Given the description of an element on the screen output the (x, y) to click on. 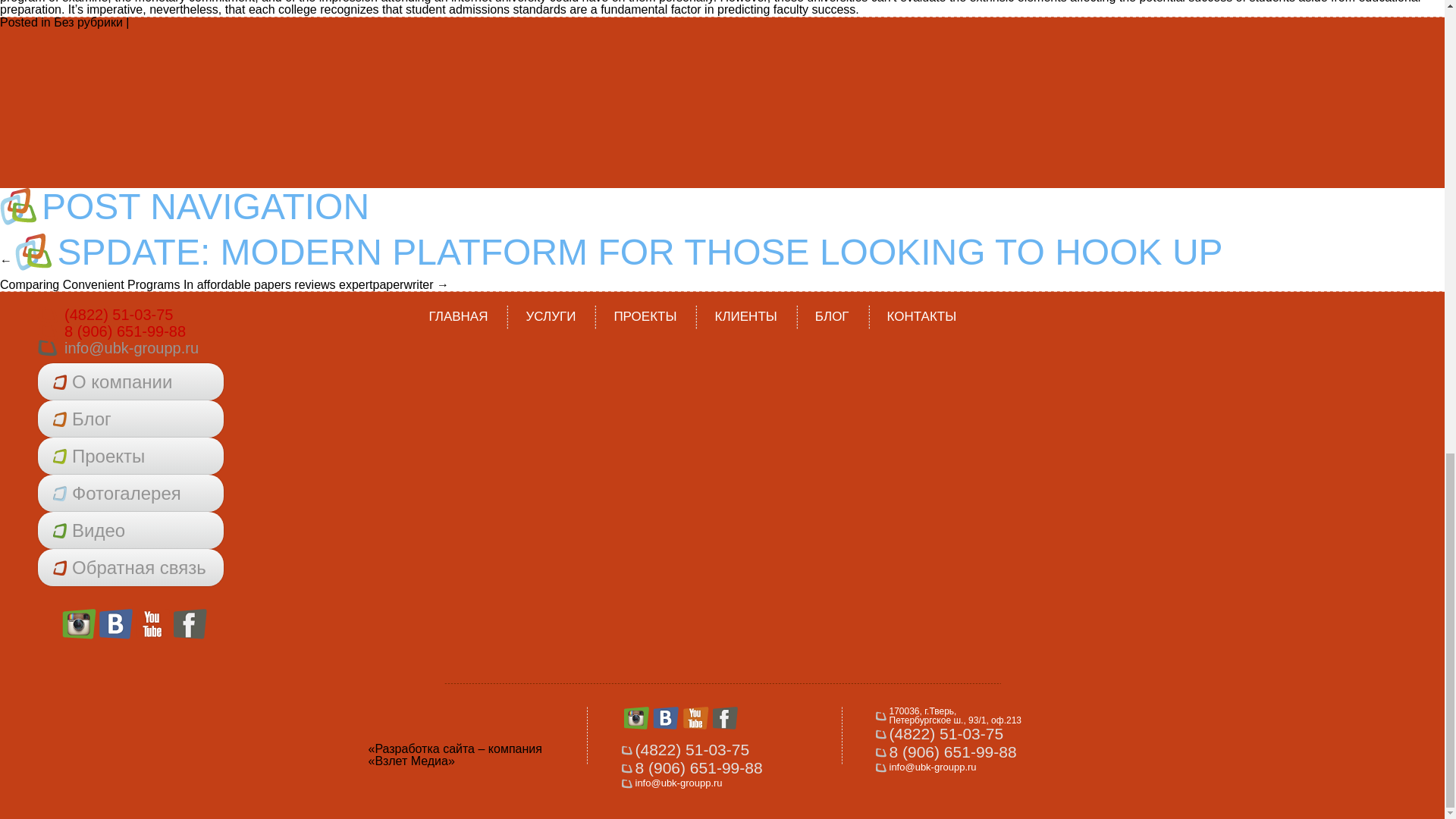
vkontakte (116, 624)
youtube (153, 624)
instagram (79, 624)
facebook (190, 624)
facebook (190, 624)
vkontakte (116, 624)
youtube (153, 624)
instagram (79, 624)
